Given the description of an element on the screen output the (x, y) to click on. 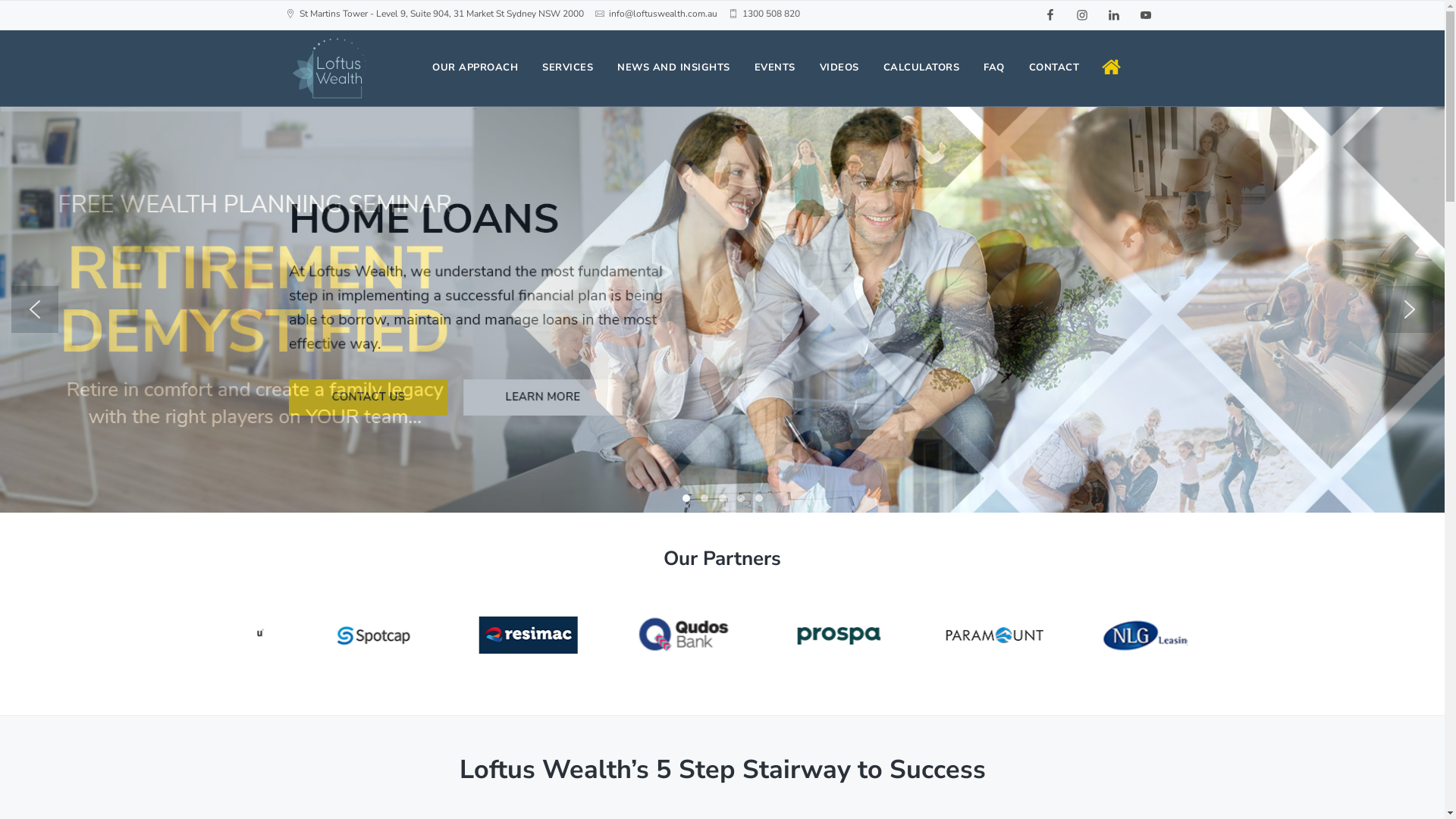
CONTACT Element type: text (1053, 67)
SERVICES Element type: text (567, 67)
EVENTS Element type: text (773, 67)
Loftus Wealth Element type: text (292, 189)
VIDEOS Element type: text (838, 67)
FAQ Element type: text (993, 67)
info@loftuswealth.com.au Element type: text (662, 13)
CALCULATORS Element type: text (920, 67)
1300 508 820 Element type: text (770, 13)
Skip to primary navigation Element type: text (0, 0)
NEWS AND INSIGHTS Element type: text (673, 67)
OUR APPROACH Element type: text (474, 67)
